Given the description of an element on the screen output the (x, y) to click on. 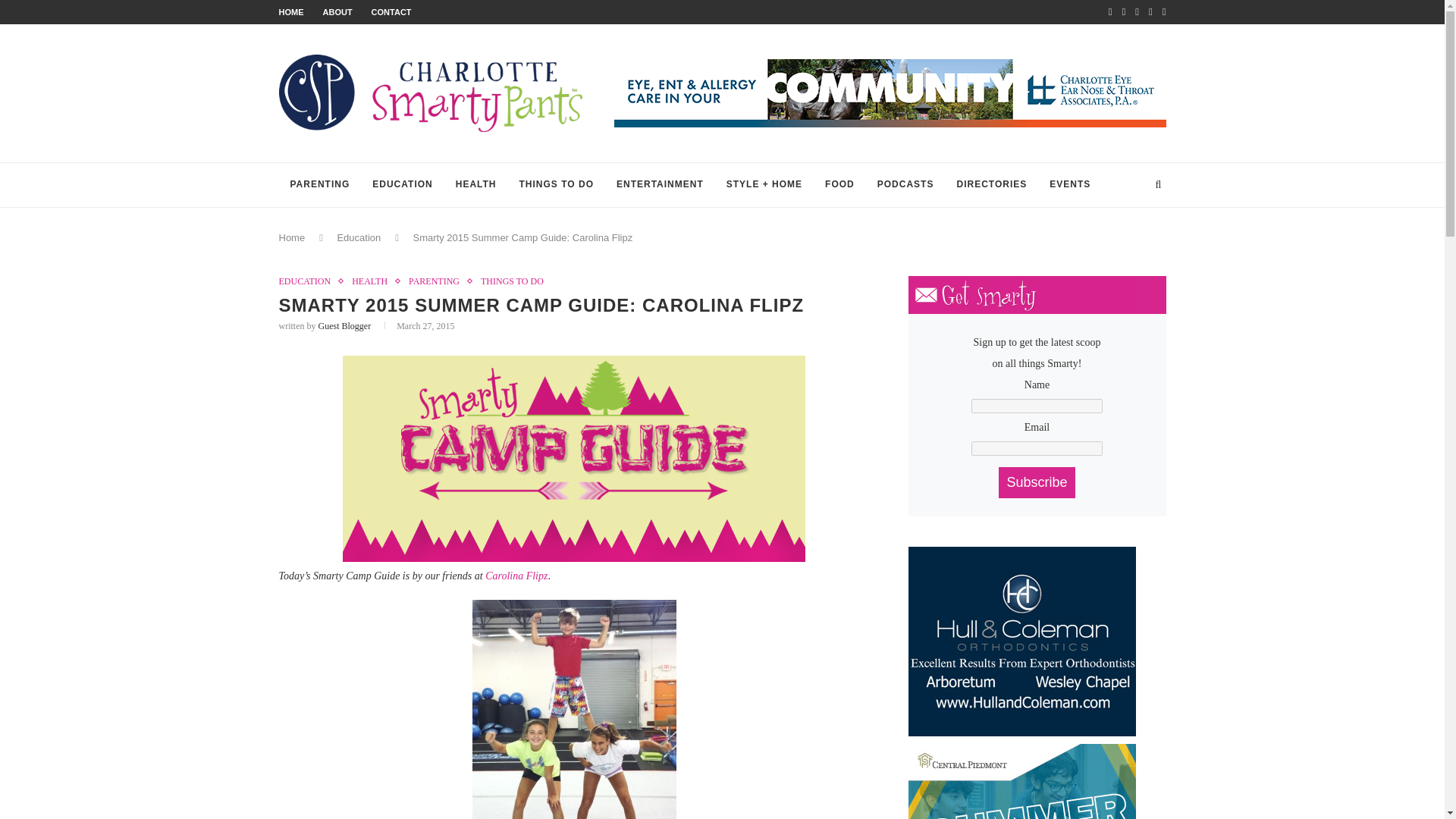
HEALTH (476, 185)
EVENTS (1070, 185)
ENTERTAINMENT (659, 185)
EDUCATION (309, 281)
HOME (291, 11)
ABOUT (337, 11)
Home (292, 237)
CONTACT (391, 11)
FOOD (839, 185)
Education (358, 237)
DIRECTORIES (991, 185)
PODCASTS (905, 185)
THINGS TO DO (511, 281)
PARENTING (320, 185)
HEALTH (373, 281)
